Given the description of an element on the screen output the (x, y) to click on. 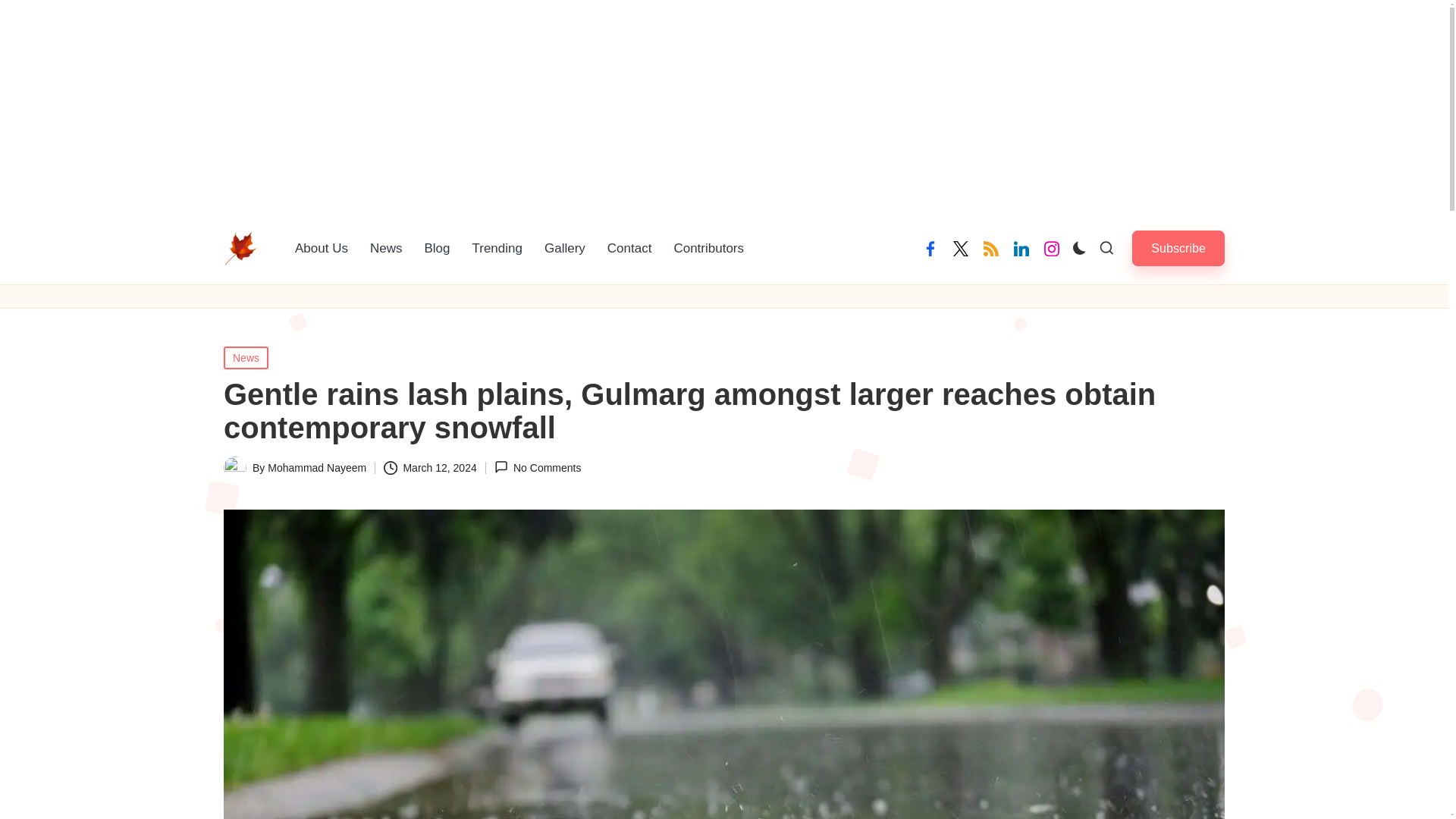
instagram.com (1051, 248)
twitter.com (960, 248)
facebook.com (930, 248)
Gallery (564, 248)
Blog (436, 248)
Subscribe (1178, 248)
Contact (629, 248)
News (386, 248)
linkedin.com (1020, 248)
Mohammad Nayeem (316, 467)
